Given the description of an element on the screen output the (x, y) to click on. 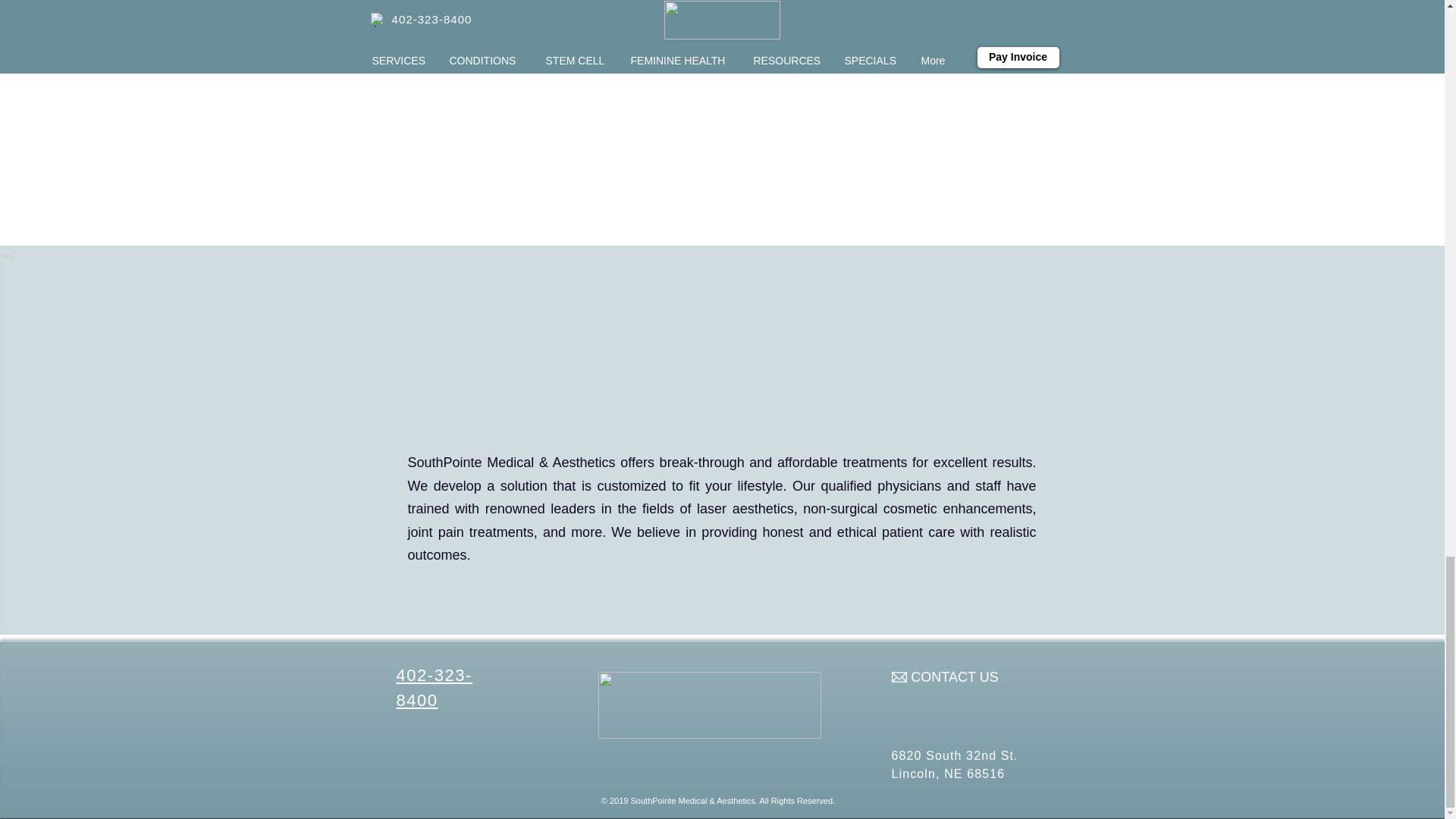
Logo - SPMA wht.png (708, 704)
